Given the description of an element on the screen output the (x, y) to click on. 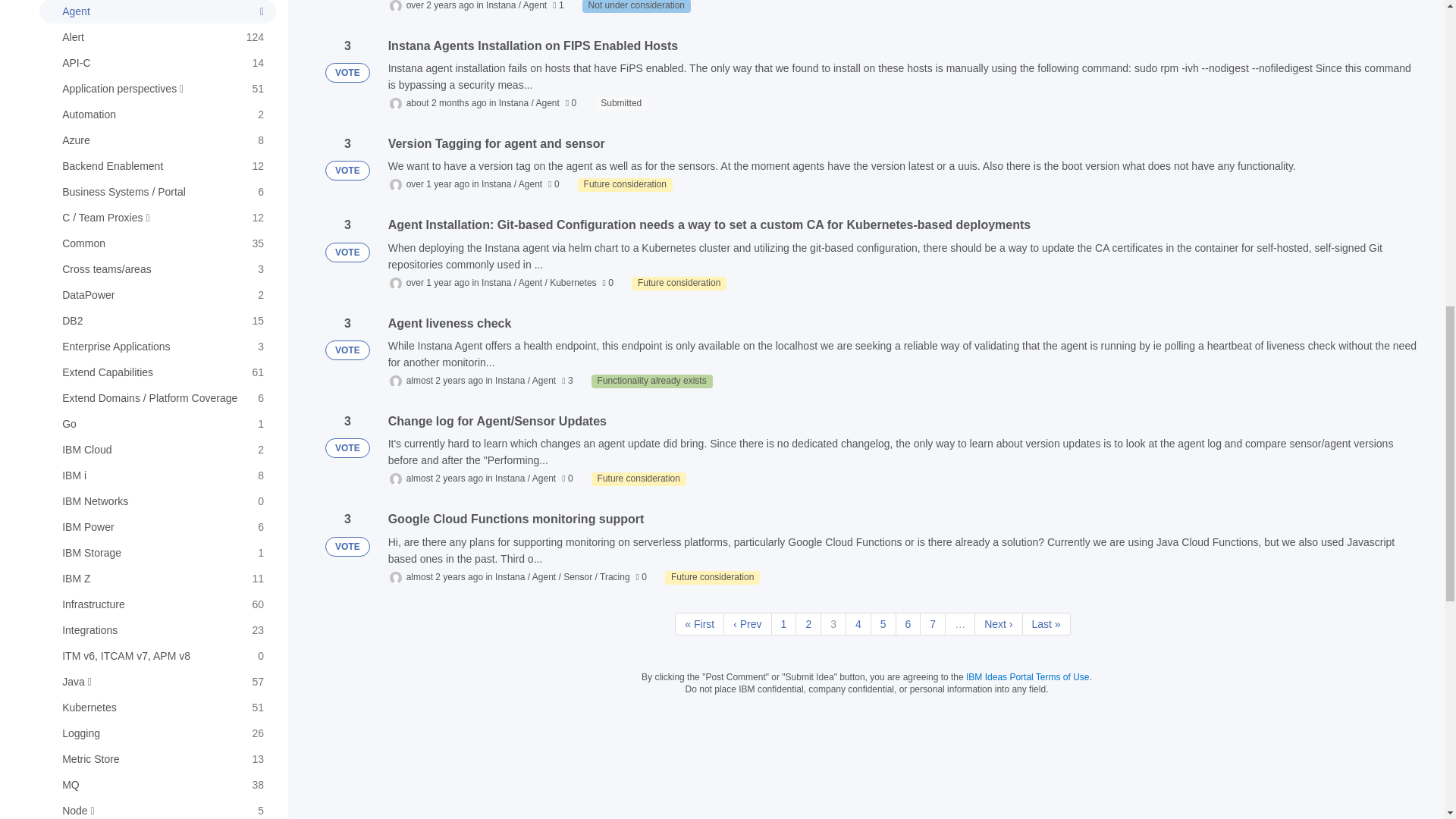
Functionality already exists (652, 381)
Future consideration (678, 283)
Submitted (620, 103)
Not under consideration (636, 6)
Future consideration (712, 577)
Future consideration (625, 184)
Future consideration (638, 479)
